Given the description of an element on the screen output the (x, y) to click on. 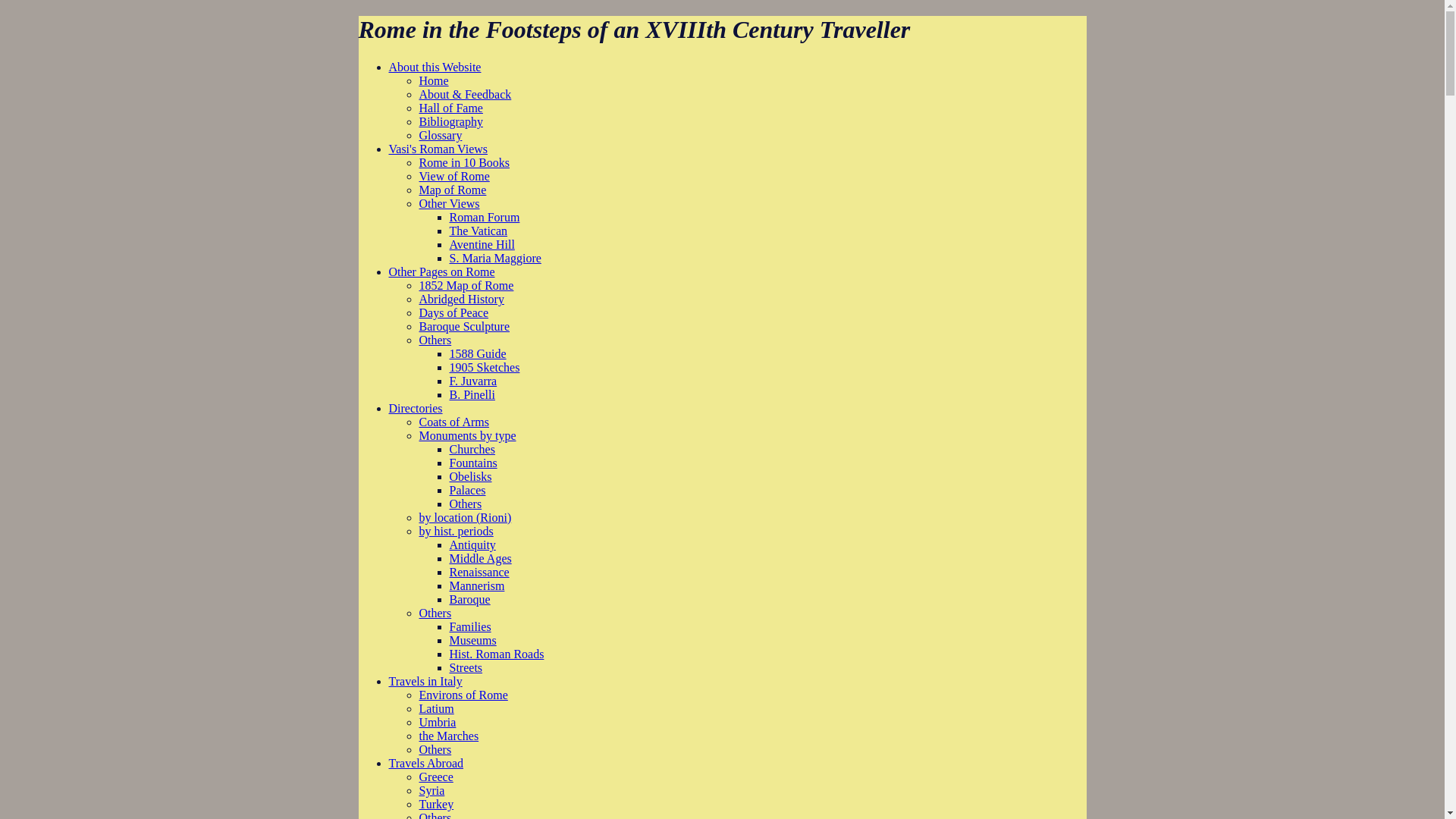
Roman Forum (483, 216)
Directories (415, 408)
Antiquity (471, 544)
1588 Guide (476, 353)
Middle Ages (479, 558)
Bibliography (450, 121)
Aventine Hill (480, 244)
Other Pages on Rome (441, 271)
Churches (471, 449)
The Vatican (477, 230)
